Given the description of an element on the screen output the (x, y) to click on. 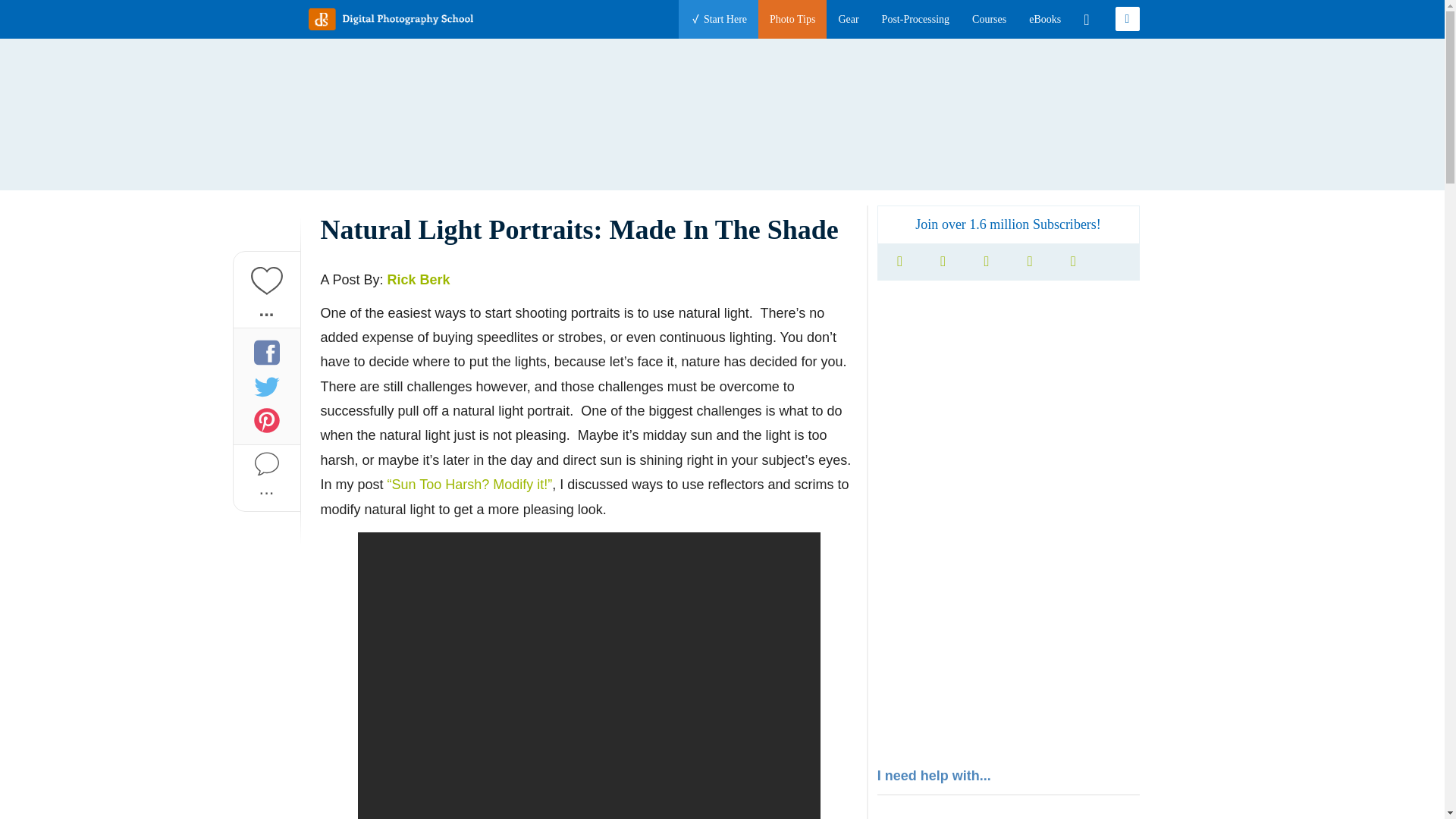
Click to share on Facebook (266, 352)
Digital Photography School (390, 18)
Click to share on Twitter (266, 385)
Sun Too Harsh? Modify It! (470, 484)
Post-Processing (915, 19)
Photo Tips (791, 19)
Click to share on Pinterest (266, 420)
Gear (847, 19)
